Given the description of an element on the screen output the (x, y) to click on. 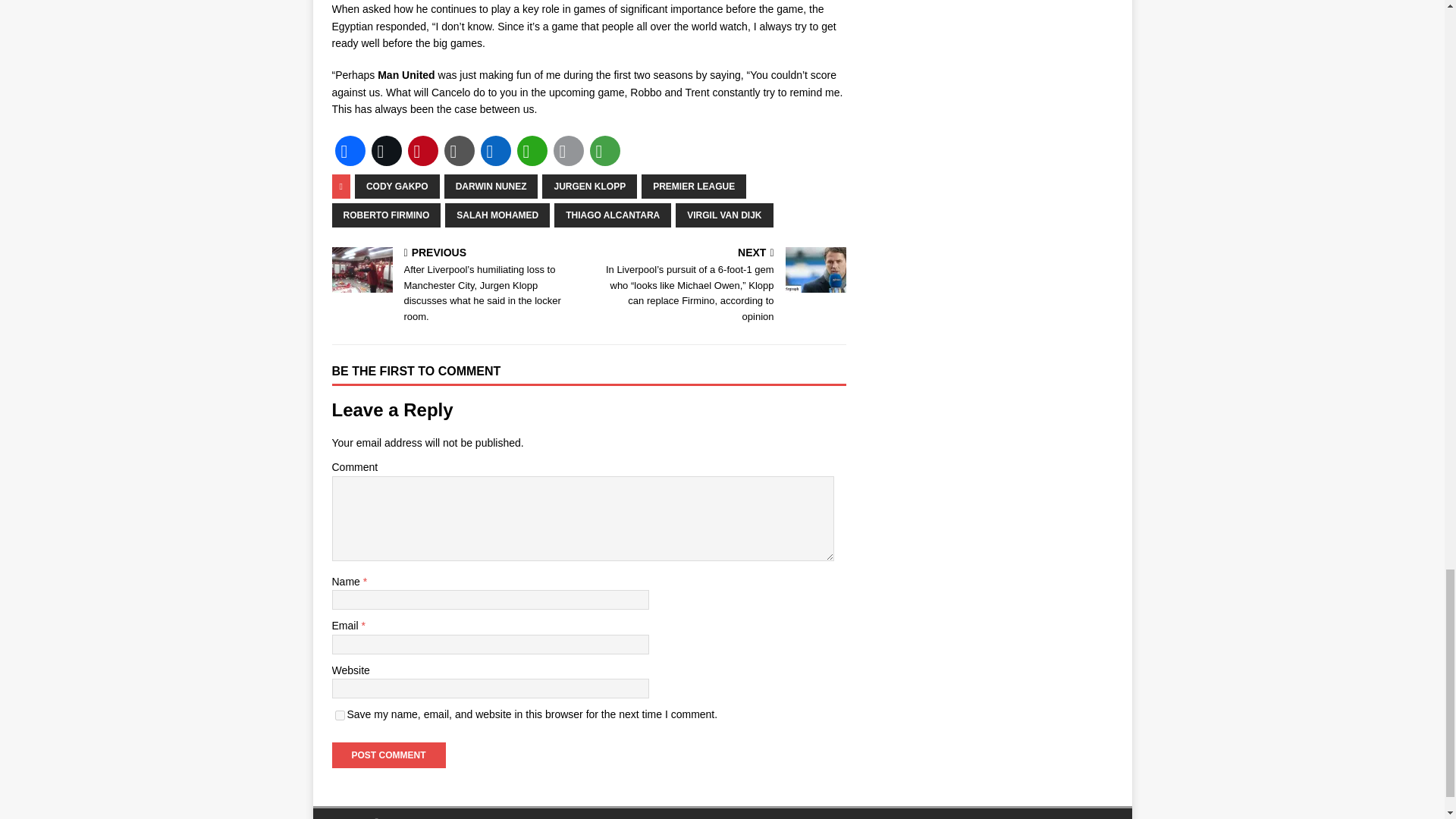
THIAGO ALCANTARA (612, 215)
DARWIN NUNEZ (491, 186)
ROBERTO FIRMINO (386, 215)
VIRGIL VAN DIJK (724, 215)
SALAH MOHAMED (497, 215)
CODY GAKPO (397, 186)
Email This (568, 150)
Post Comment (388, 755)
PREMIER LEAGUE (693, 186)
yes (339, 715)
